Given the description of an element on the screen output the (x, y) to click on. 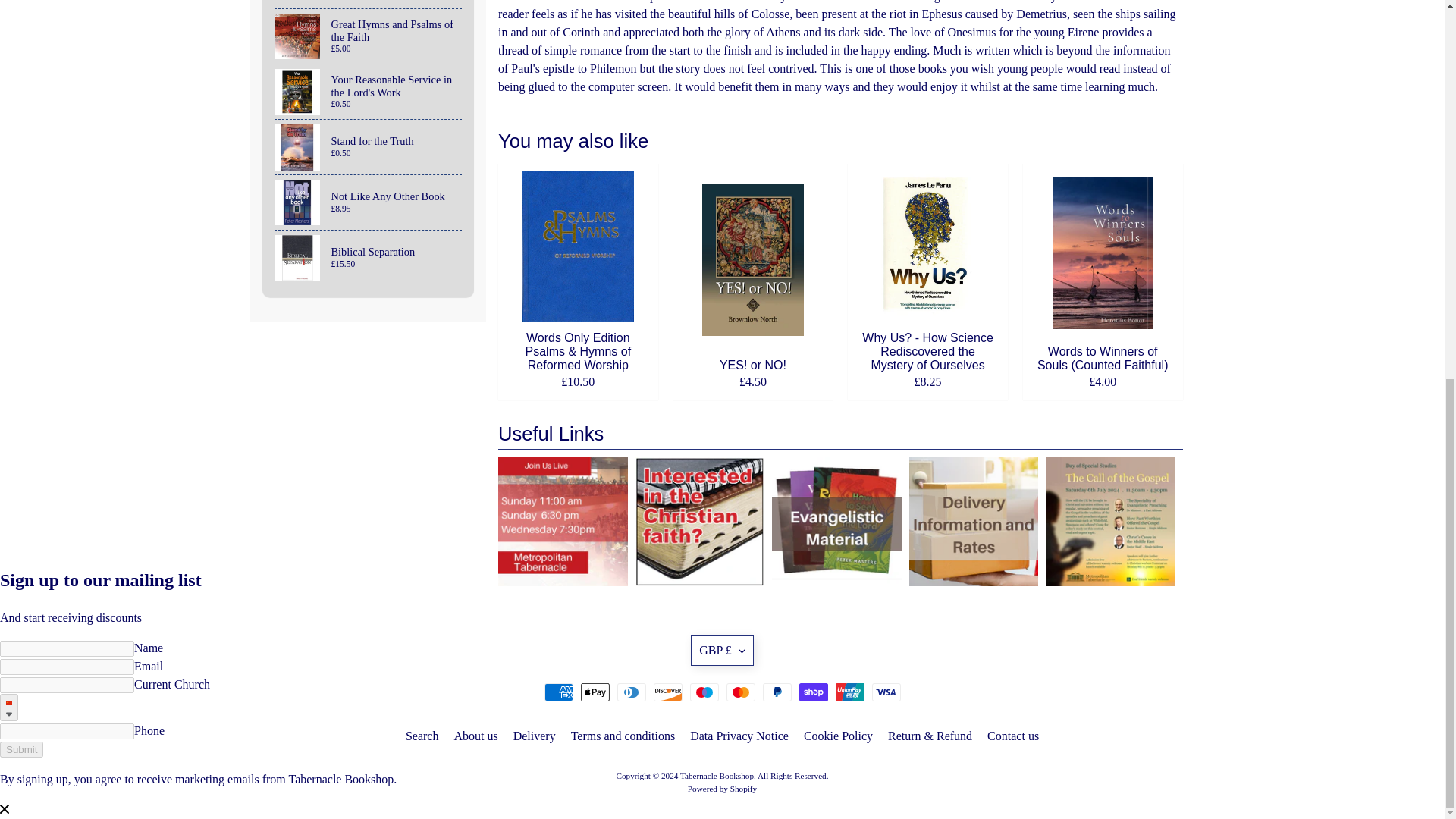
Not Like Any Other Book (369, 202)
PayPal (777, 692)
Diners Club (631, 692)
Great Hymns and Psalms of the Faith (369, 36)
Mastercard (740, 692)
Visa (886, 692)
Union Pay (849, 692)
Discover (667, 692)
Shop Pay (813, 692)
Biblical Separation (369, 257)
Apple Pay (595, 692)
Your Reasonable Service in the Lord's Work (369, 91)
Maestro (704, 692)
Stand for the Truth (369, 146)
American Express (558, 692)
